Given the description of an element on the screen output the (x, y) to click on. 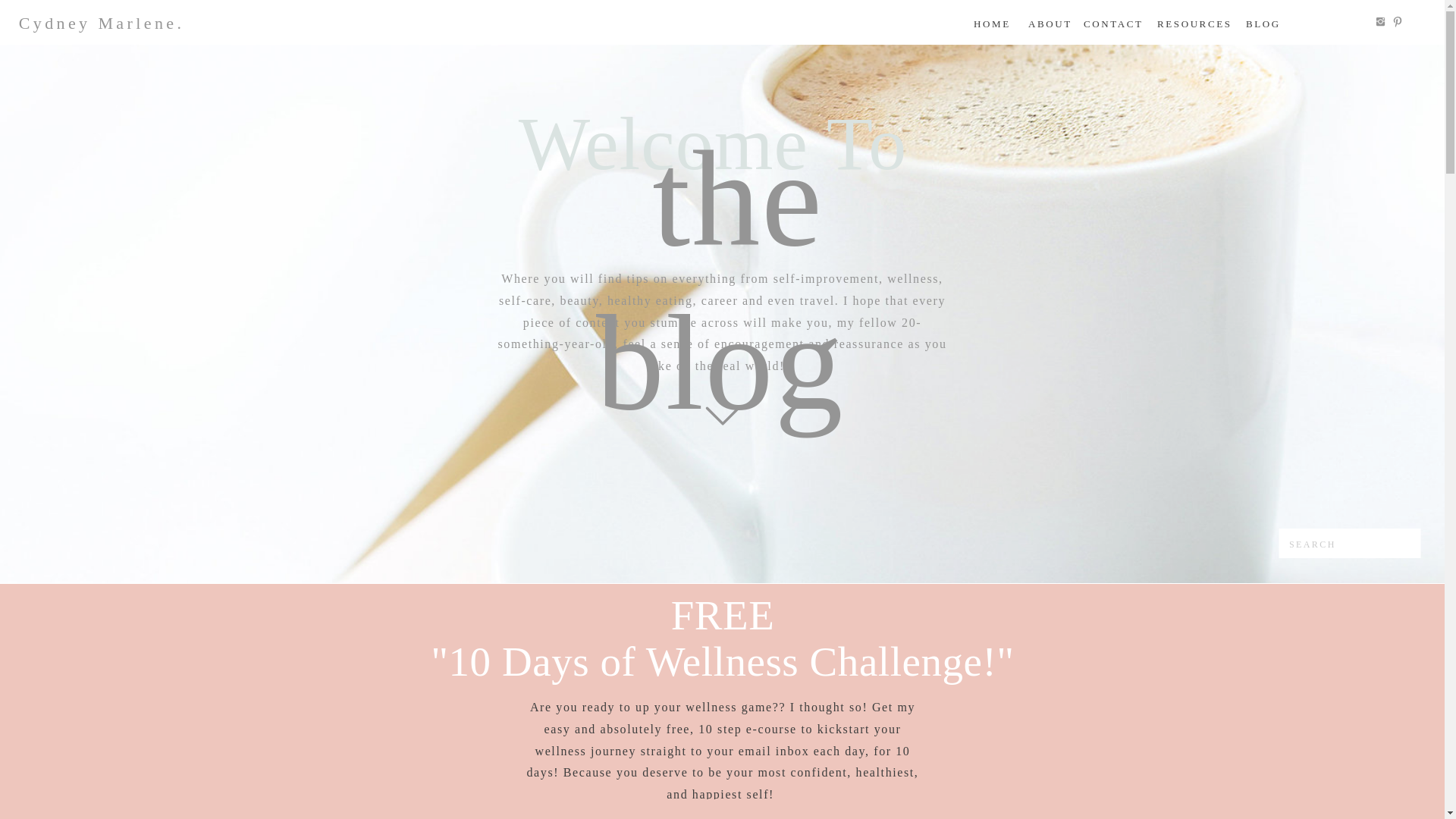
RESOURCES (1193, 25)
ABOUT (1050, 25)
BLOG (1261, 25)
HOME (991, 25)
Cydney Marlene.  (107, 22)
CONTACT (1112, 25)
